Given the description of an element on the screen output the (x, y) to click on. 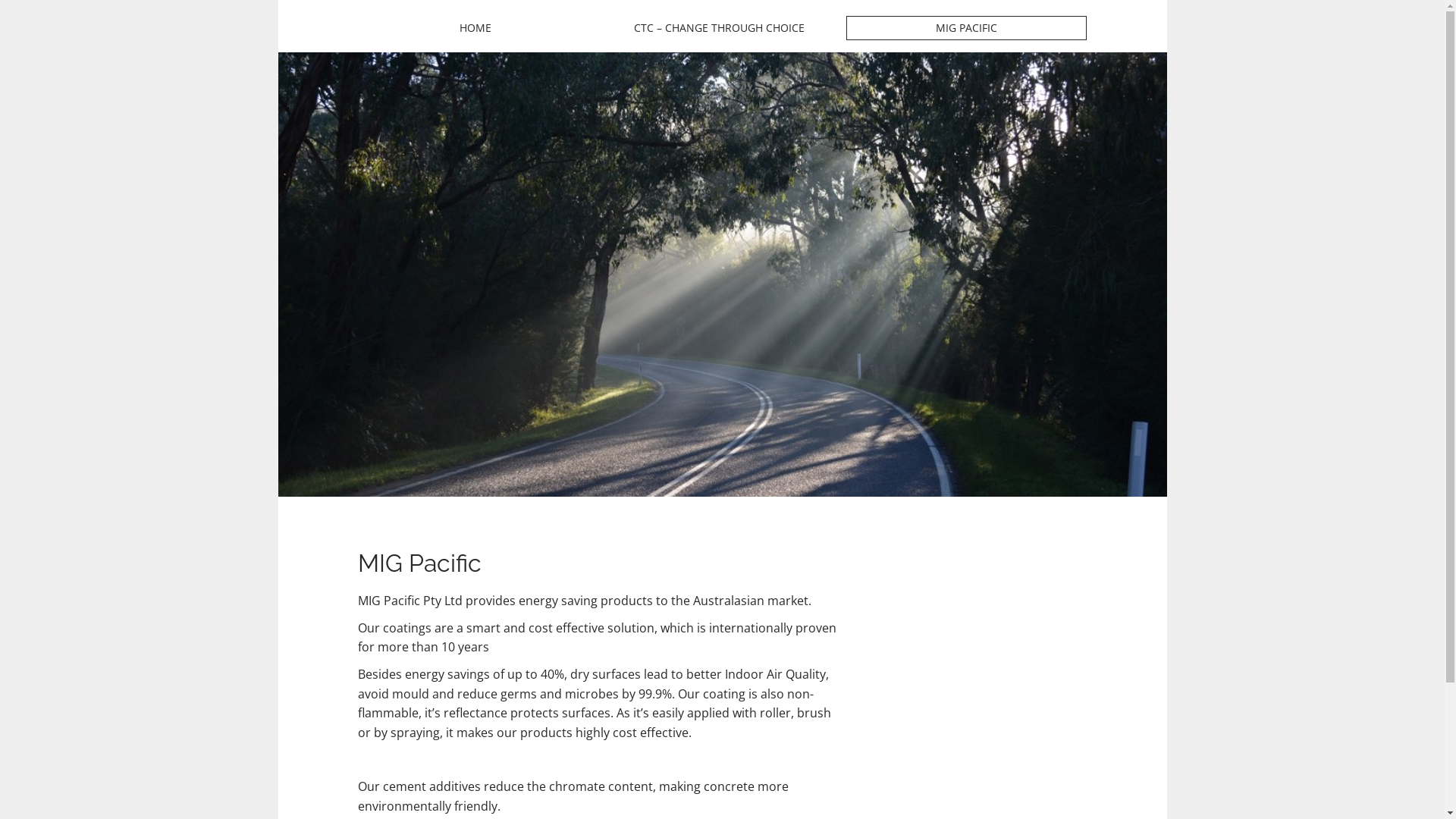
Hildebrand Element type: text (474, 56)
Skip to content Element type: text (357, 15)
MIG PACIFIC Element type: text (966, 27)
HOME Element type: text (474, 27)
